Given the description of an element on the screen output the (x, y) to click on. 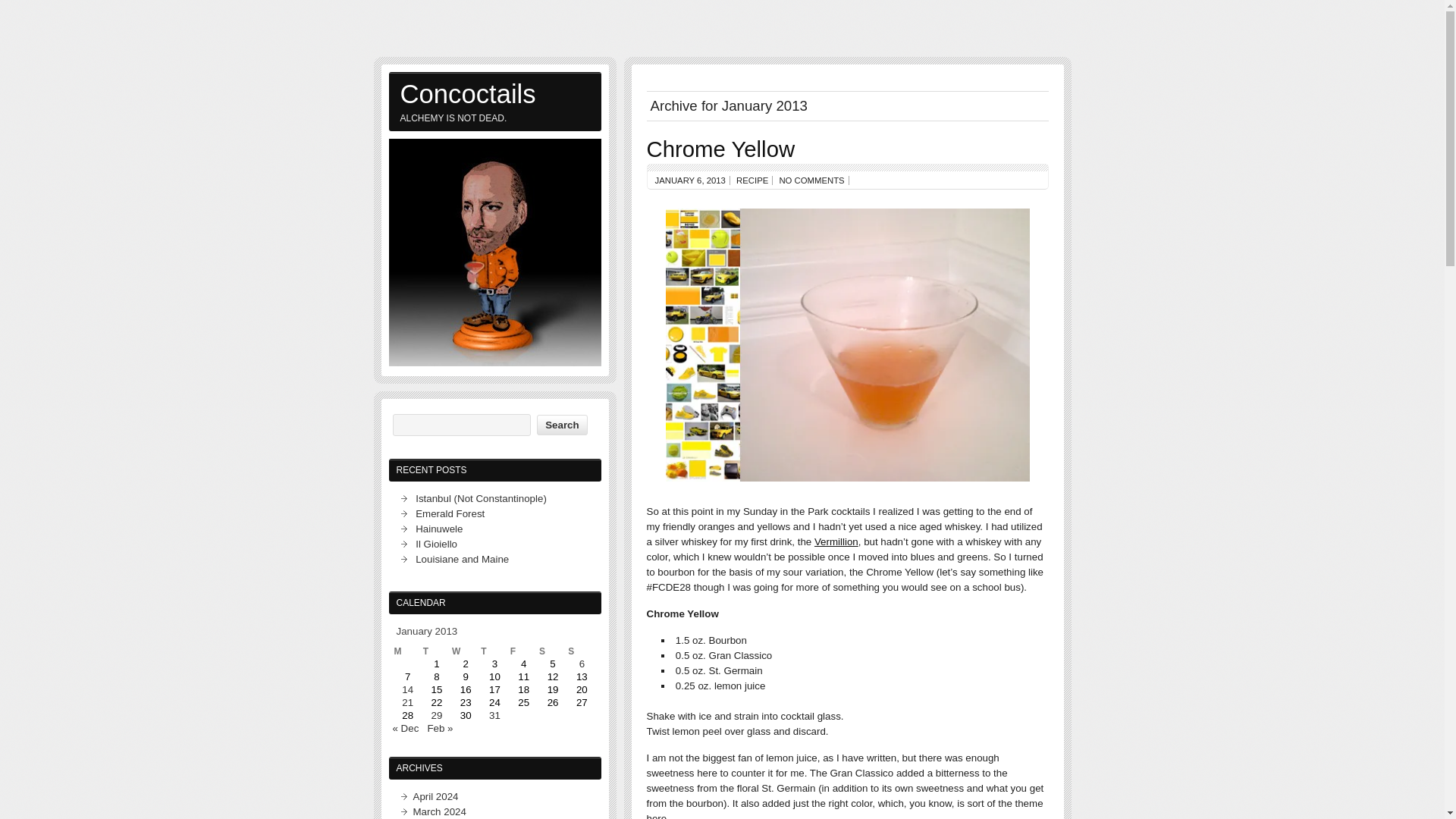
RECIPE (752, 180)
21 (407, 702)
Sunday (581, 651)
JANUARY 6, 2013 (690, 180)
Tuesday (436, 651)
31 (494, 715)
Chrome Yellow (720, 148)
Wednesday (465, 651)
Louisiane and Maine (461, 559)
Concoctails (493, 92)
Saturday (552, 651)
29 (436, 715)
NO COMMENTS (811, 180)
14 (407, 689)
Search (561, 424)
